Given the description of an element on the screen output the (x, y) to click on. 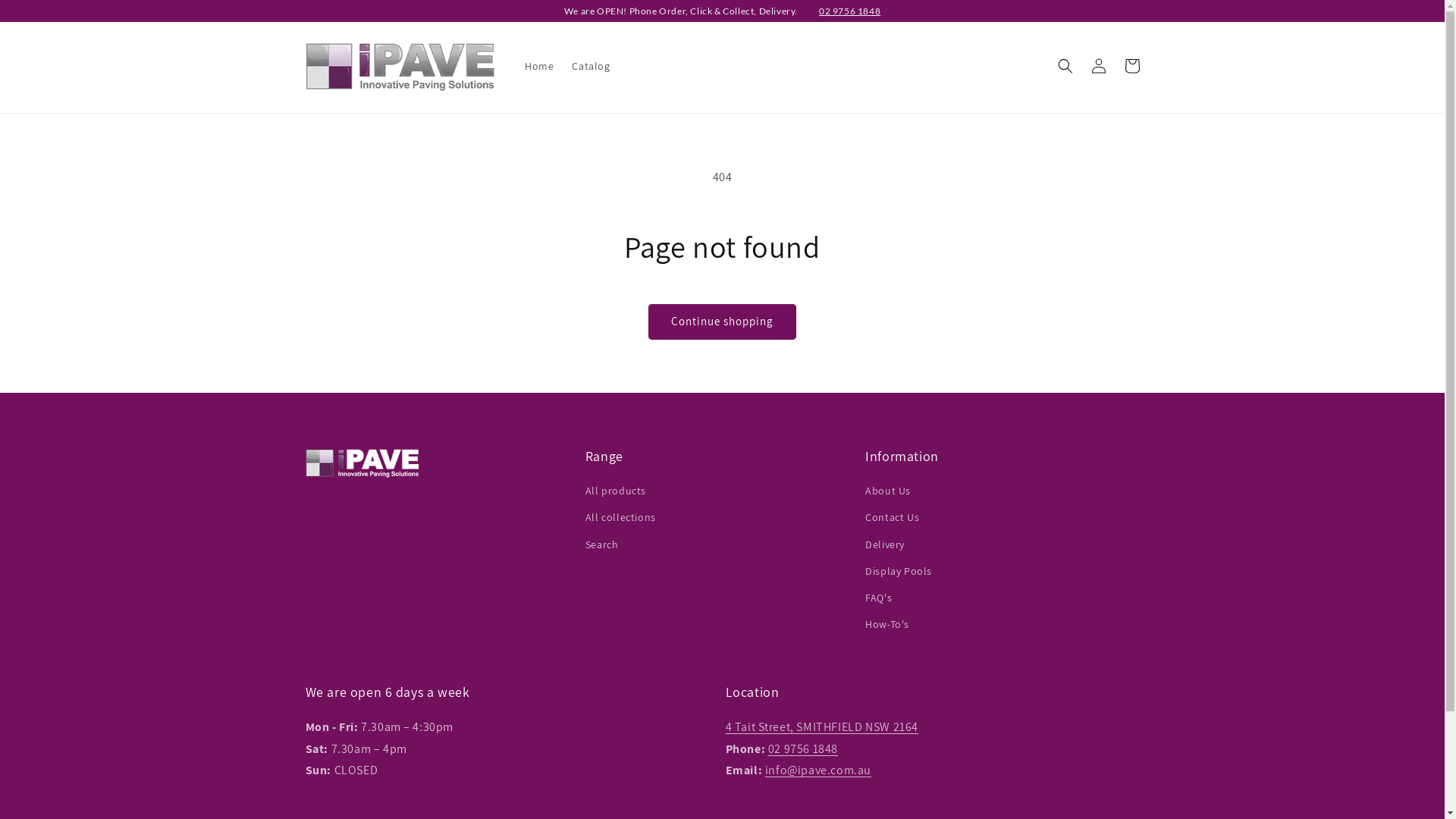
How-To's Element type: text (887, 624)
Display Pools Element type: text (898, 571)
info@ipave.com.au Element type: text (818, 770)
Contact Us Element type: text (892, 517)
02 9756 1848 Element type: text (802, 748)
Continue shopping Element type: text (722, 321)
All collections Element type: text (620, 517)
Search Element type: text (601, 544)
Delivery Element type: text (884, 544)
Cart Element type: text (1131, 65)
Catalog Element type: text (590, 65)
About Us Element type: text (887, 492)
All products Element type: text (615, 492)
Log in Element type: text (1097, 65)
FAQ's Element type: text (878, 597)
4 Tait Street, SMITHFIELD NSW 2164 Element type: text (820, 726)
Home Element type: text (538, 65)
02 9756 1848 Element type: text (849, 10)
